Given the description of an element on the screen output the (x, y) to click on. 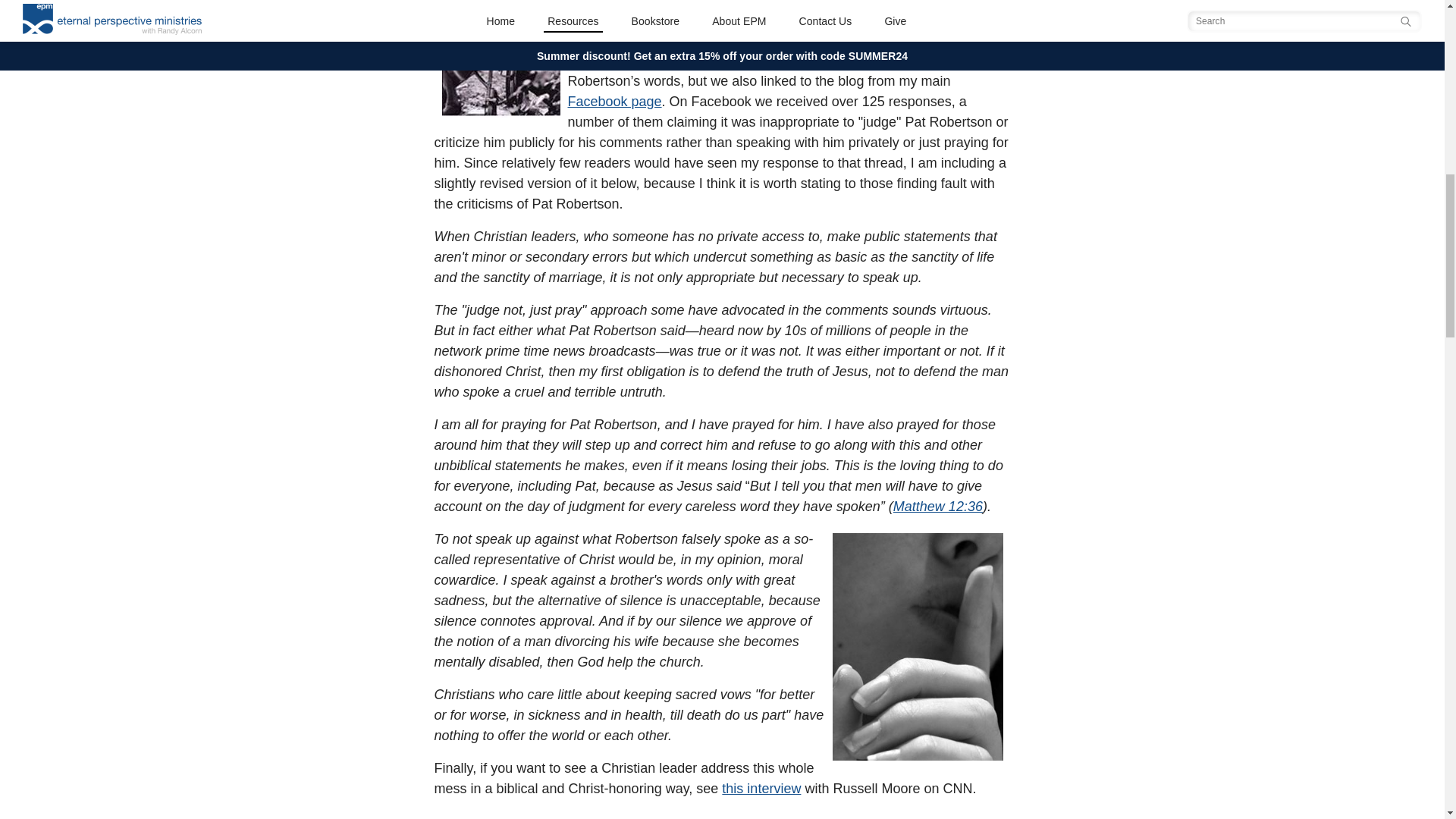
this interview (761, 788)
Facebook page (614, 101)
Matthew 12:36 (937, 506)
